Given the description of an element on the screen output the (x, y) to click on. 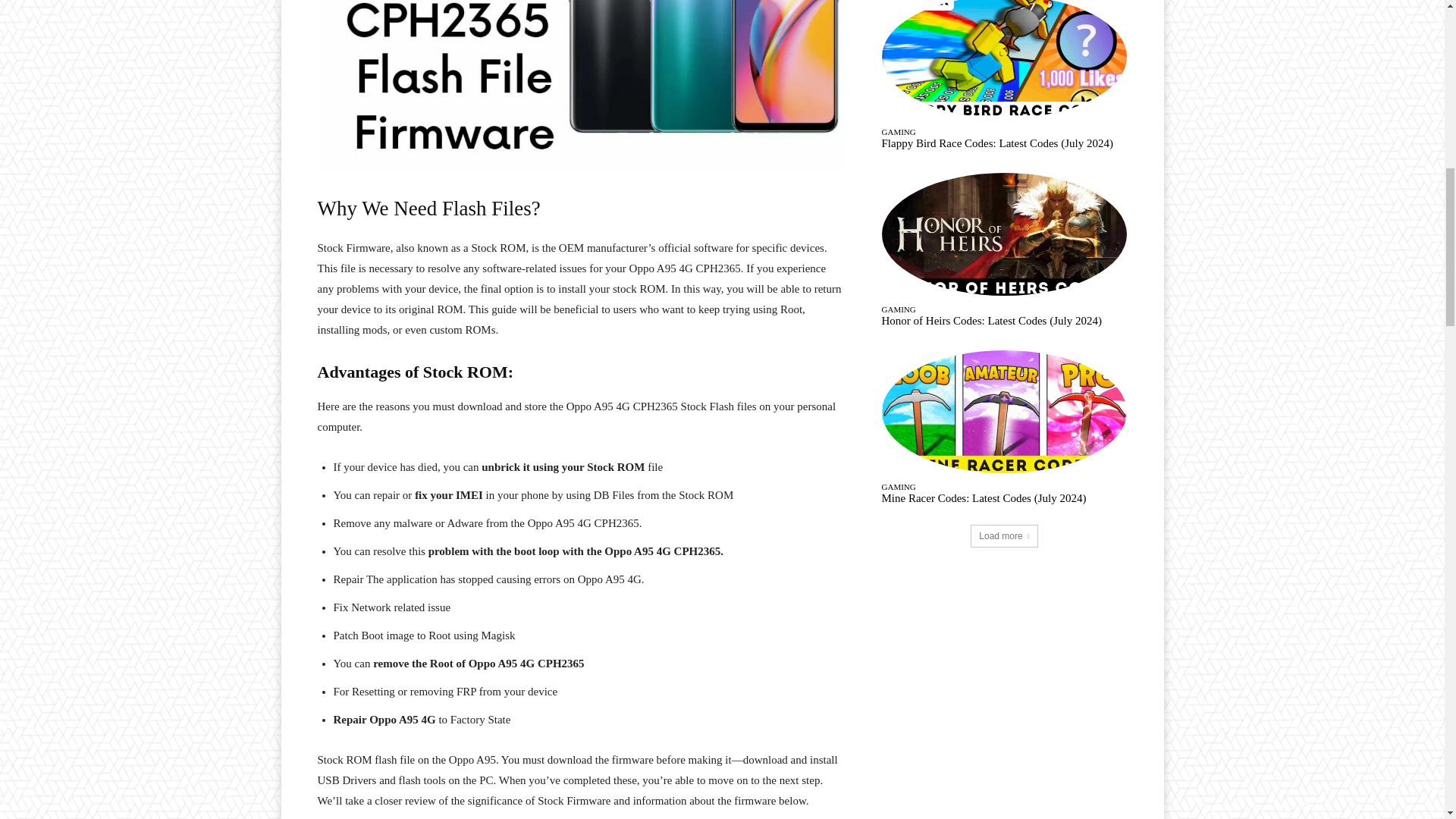
Oppo A95 4G CPH2365 Flash File Firmware 1 (580, 85)
